Given the description of an element on the screen output the (x, y) to click on. 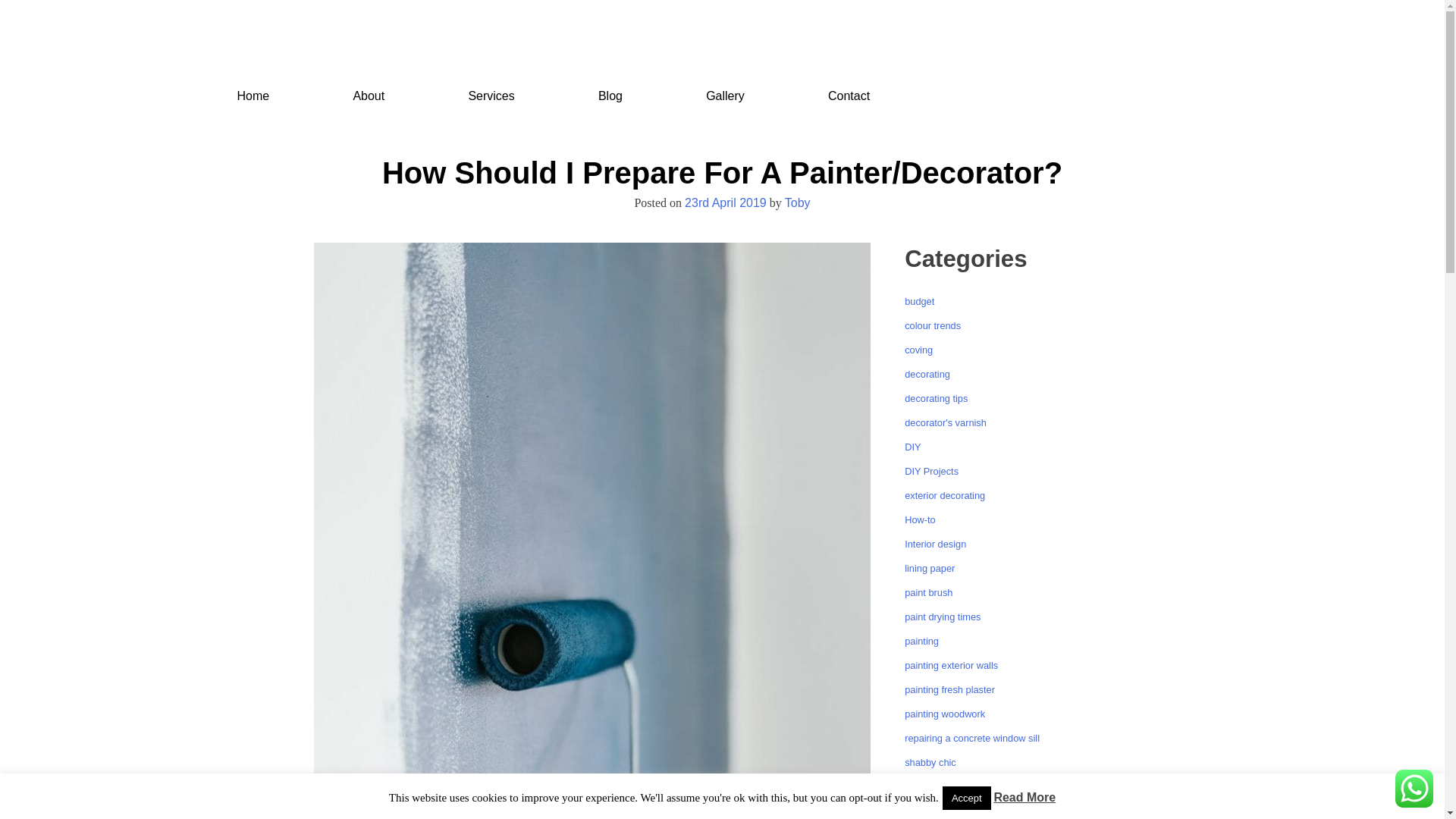
decorating (927, 374)
exterior decorating (944, 495)
Blog (610, 97)
coving (918, 349)
budget (919, 301)
colour trends (932, 325)
Interior design (935, 543)
paint drying times (941, 616)
Toby (797, 202)
decorator's varnish (945, 422)
lining paper (929, 568)
Home (252, 97)
Services (490, 97)
DIY (912, 446)
Gallery (725, 97)
